Given the description of an element on the screen output the (x, y) to click on. 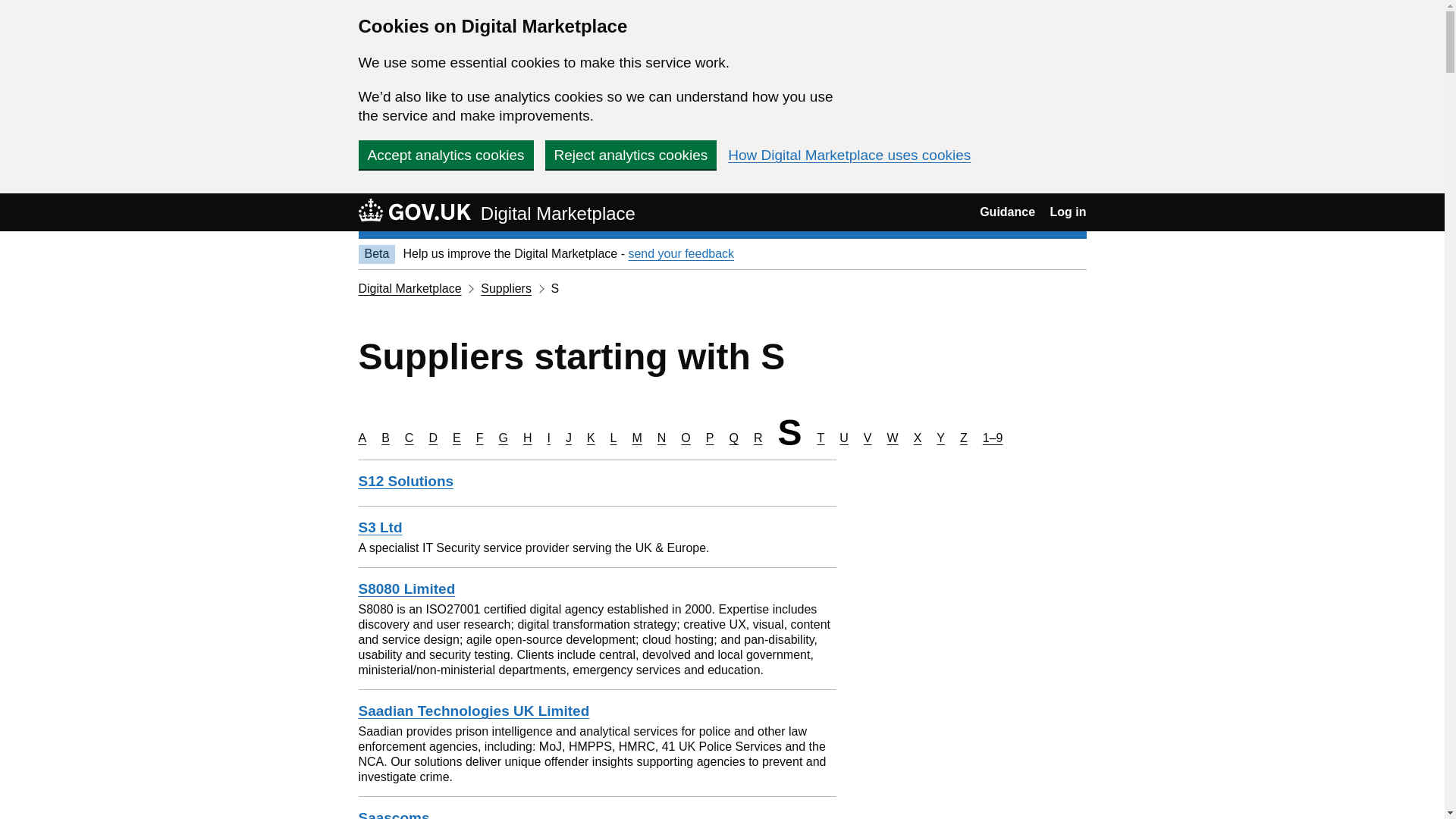
Digital Marketplace (409, 287)
Log in (1067, 211)
GOV.UK Digital Marketplace (496, 211)
Guidance (1007, 211)
S8080 Limited (406, 588)
Accept analytics cookies (445, 154)
How Digital Marketplace uses cookies (849, 155)
Reject analytics cookies (630, 154)
Saadian Technologies UK Limited (473, 710)
